Given the description of an element on the screen output the (x, y) to click on. 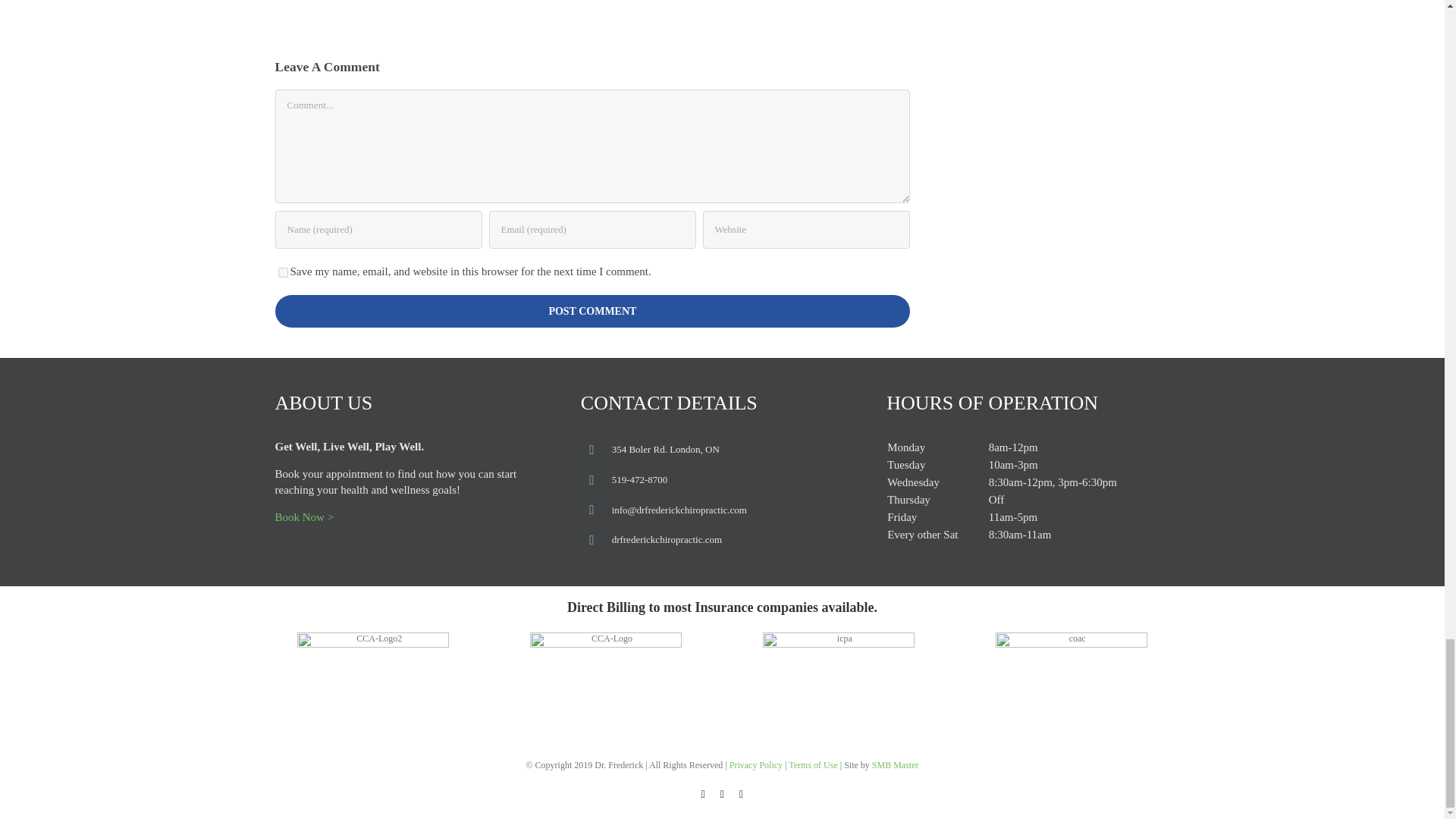
CCA-Logo2 (372, 689)
Direct Billing to most Insurance companies available. (722, 615)
Post Comment (592, 310)
yes (282, 272)
